Given the description of an element on the screen output the (x, y) to click on. 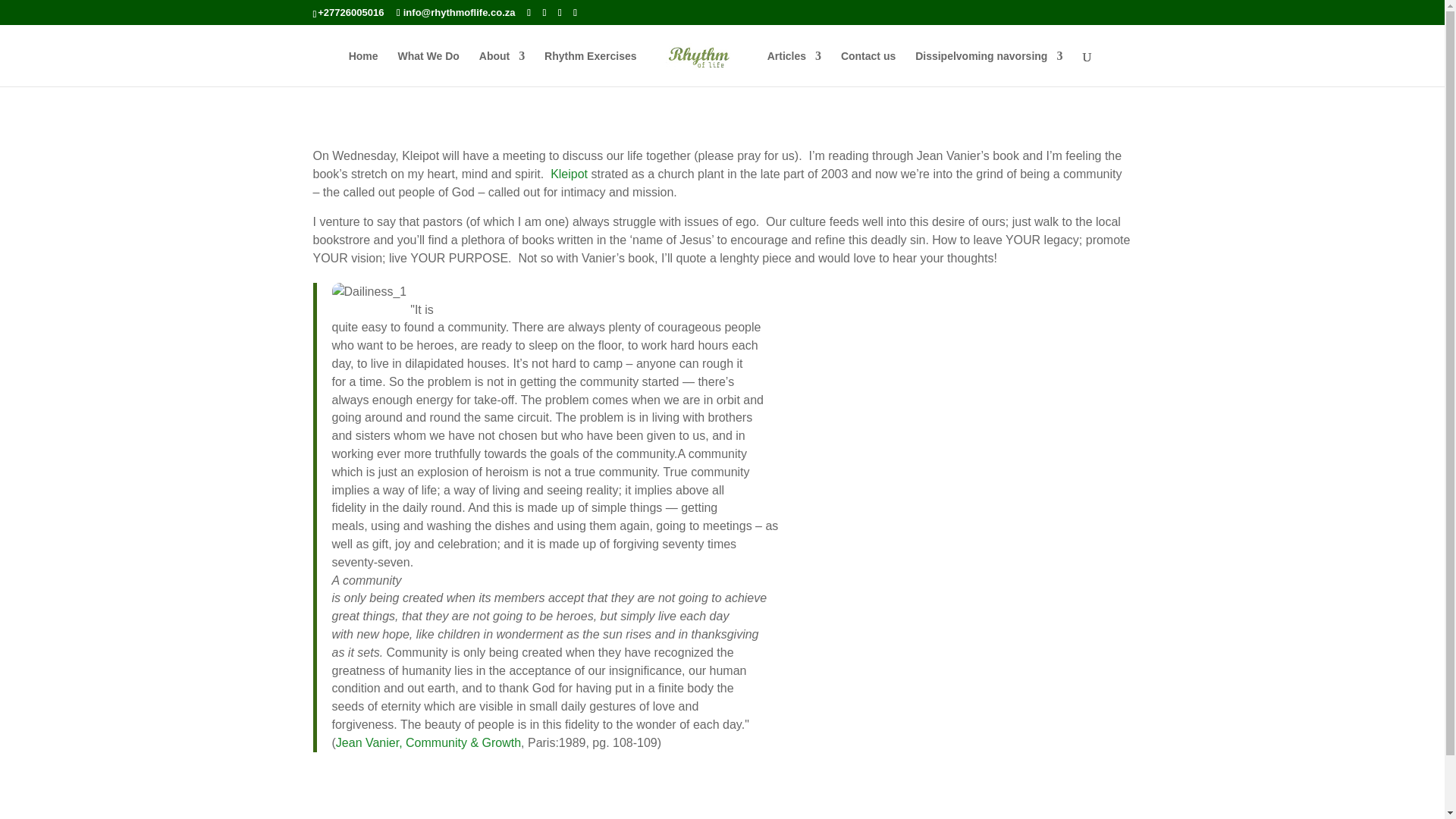
What We Do (427, 67)
Articles (794, 67)
Dissipelvoming navorsing (988, 67)
Contact us (868, 67)
About (501, 67)
Rhythm Exercises (590, 67)
